Given the description of an element on the screen output the (x, y) to click on. 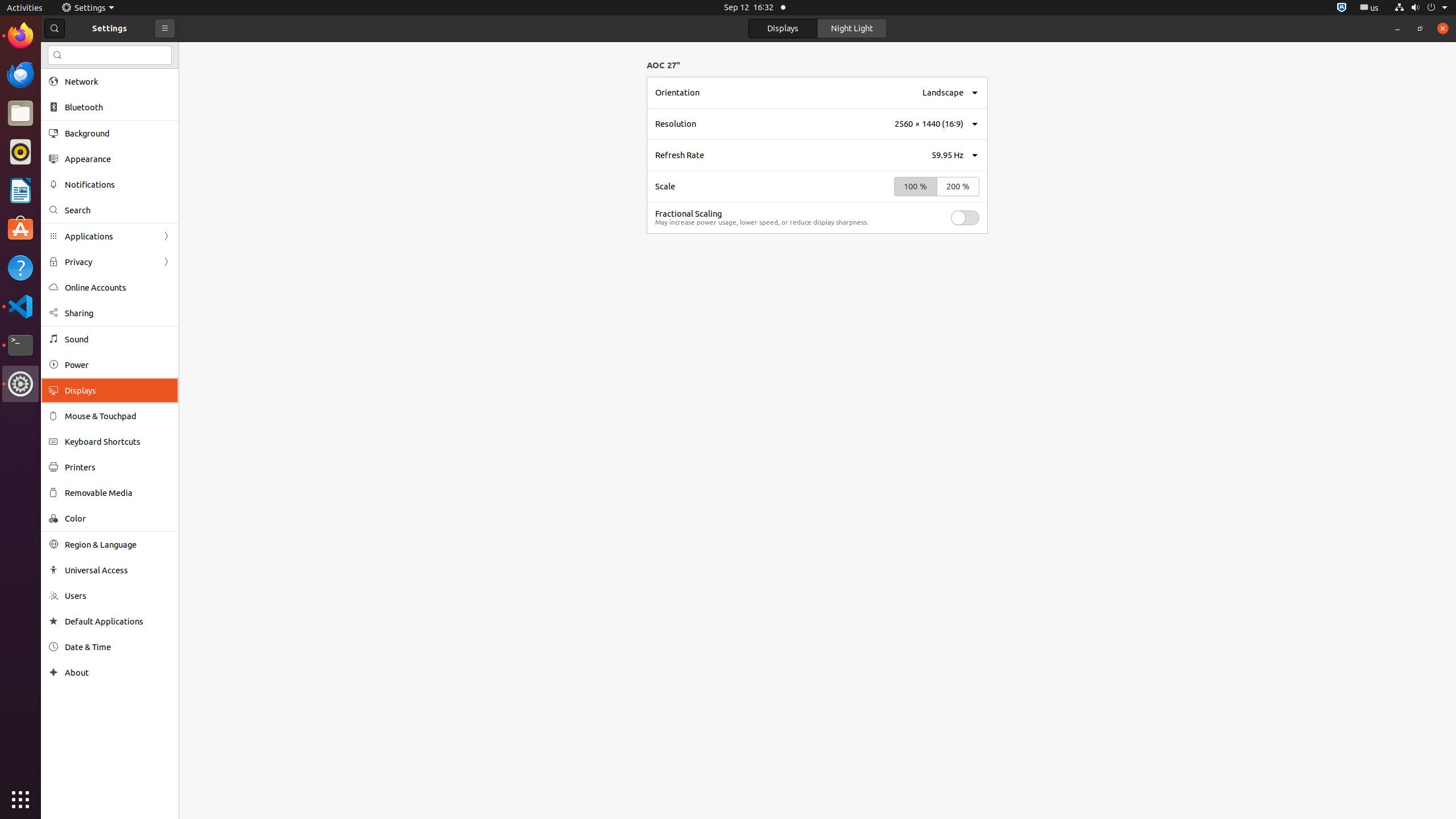
Trash Element type: label (75, 108)
Primary Menu Element type: toggle-button (164, 28)
Scale Element type: label (665, 186)
